Given the description of an element on the screen output the (x, y) to click on. 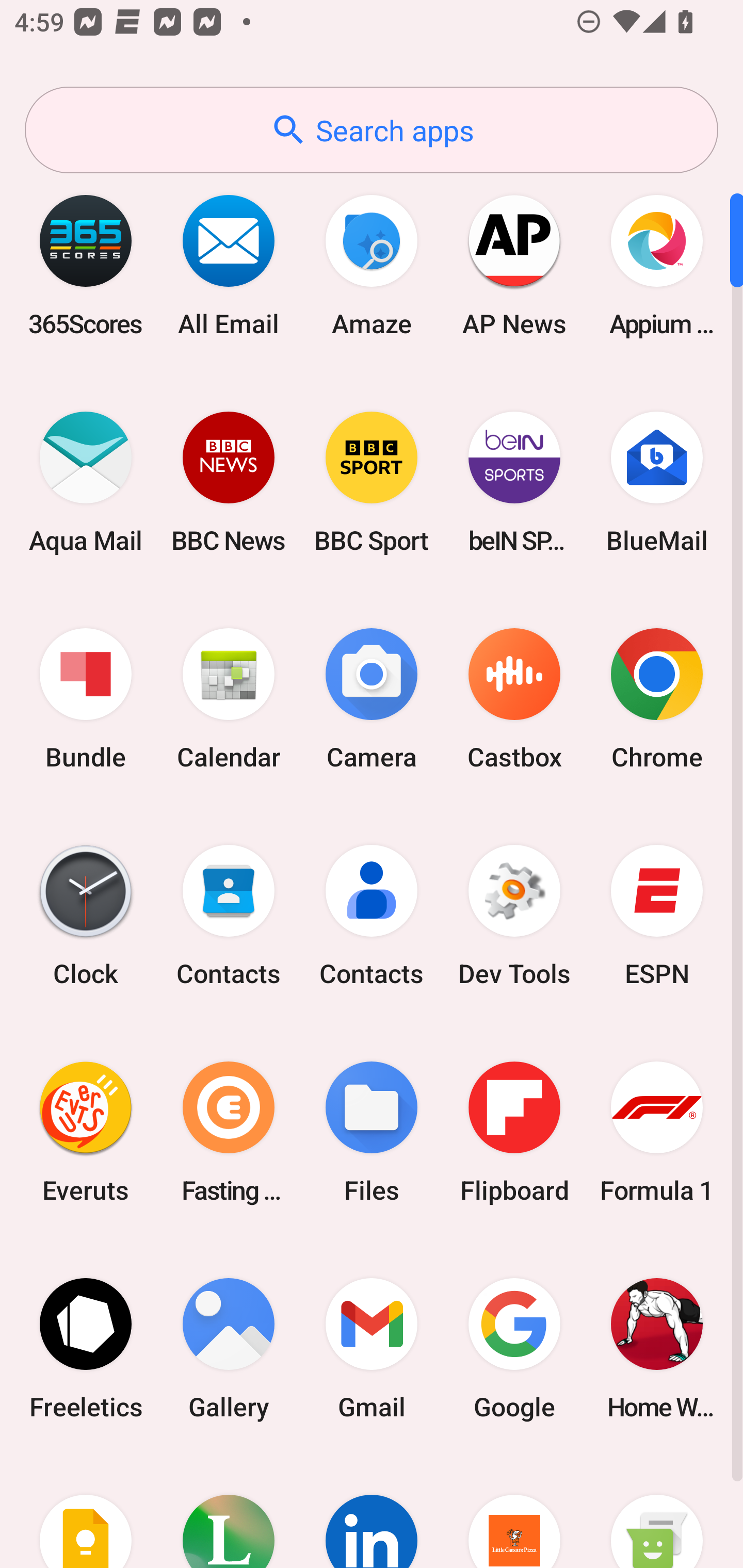
  Search apps (371, 130)
365Scores (85, 264)
All Email (228, 264)
Amaze (371, 264)
AP News (514, 264)
Appium Settings (656, 264)
Aqua Mail (85, 482)
BBC News (228, 482)
BBC Sport (371, 482)
beIN SPORTS (514, 482)
BlueMail (656, 482)
Bundle (85, 699)
Calendar (228, 699)
Camera (371, 699)
Castbox (514, 699)
Chrome (656, 699)
Clock (85, 915)
Contacts (228, 915)
Contacts (371, 915)
Dev Tools (514, 915)
ESPN (656, 915)
Everuts (85, 1131)
Fasting Coach (228, 1131)
Files (371, 1131)
Flipboard (514, 1131)
Formula 1 (656, 1131)
Freeletics (85, 1348)
Gallery (228, 1348)
Gmail (371, 1348)
Google (514, 1348)
Home Workout (656, 1348)
Keep Notes (85, 1512)
Lifesum (228, 1512)
LinkedIn (371, 1512)
Little Caesars Pizza (514, 1512)
Messaging (656, 1512)
